Given the description of an element on the screen output the (x, y) to click on. 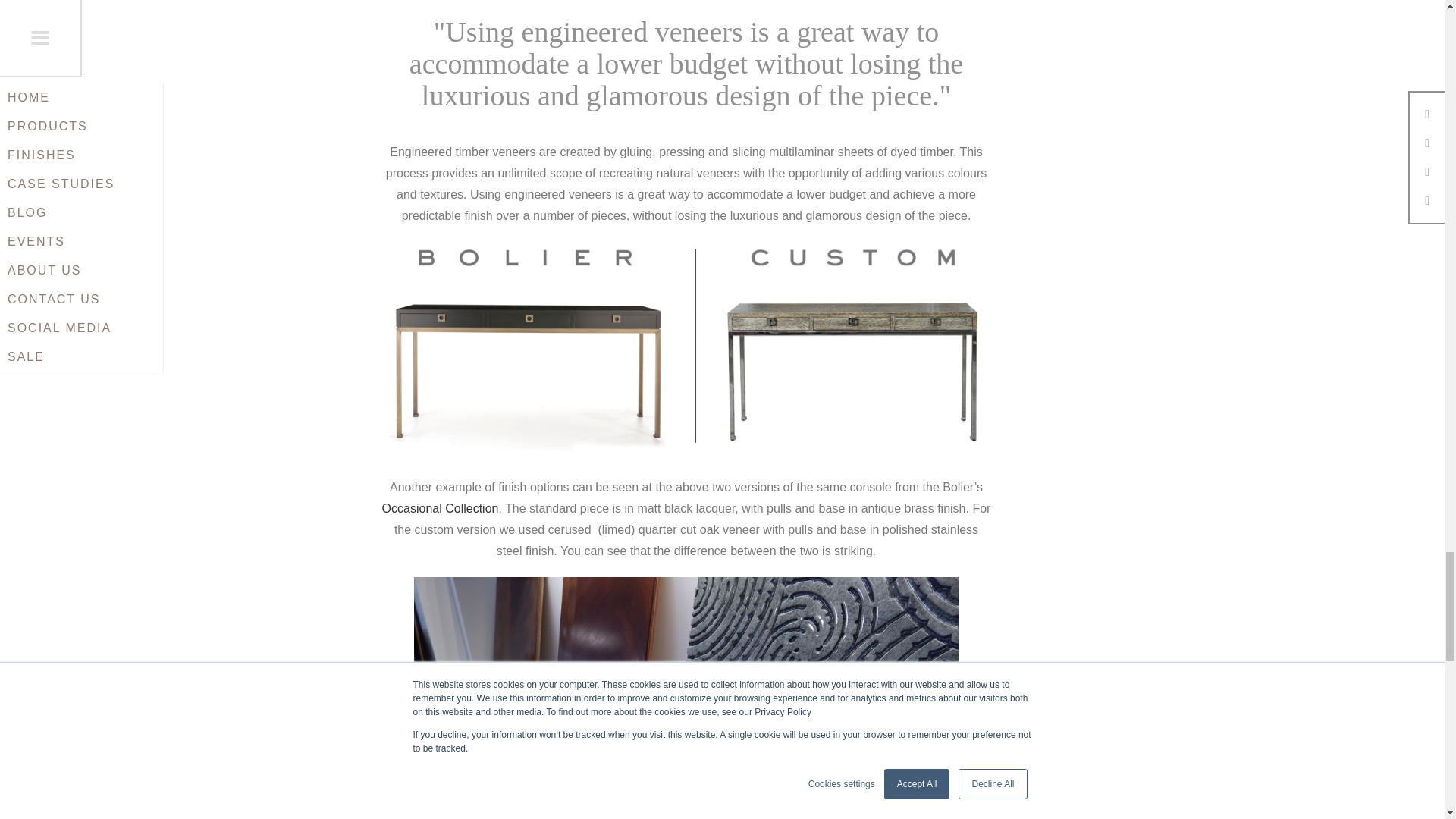
Occasional Collection (440, 508)
